Given the description of an element on the screen output the (x, y) to click on. 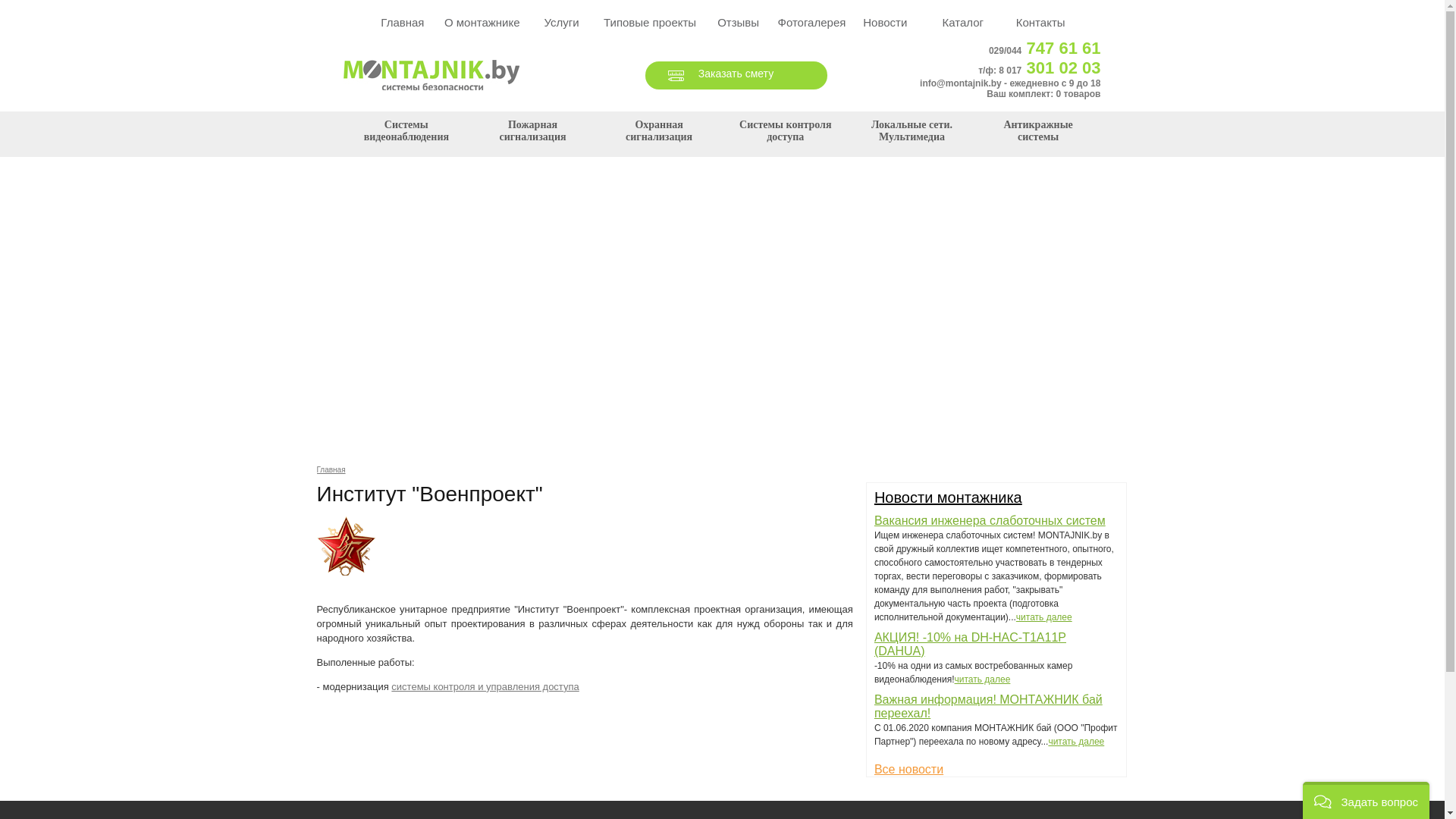
029/044 747 61 61 Element type: text (1044, 50)
8 017 301 02 03 Element type: text (1049, 70)
Prev Element type: text (19, 307)
Next Element type: text (1424, 307)
